Given the description of an element on the screen output the (x, y) to click on. 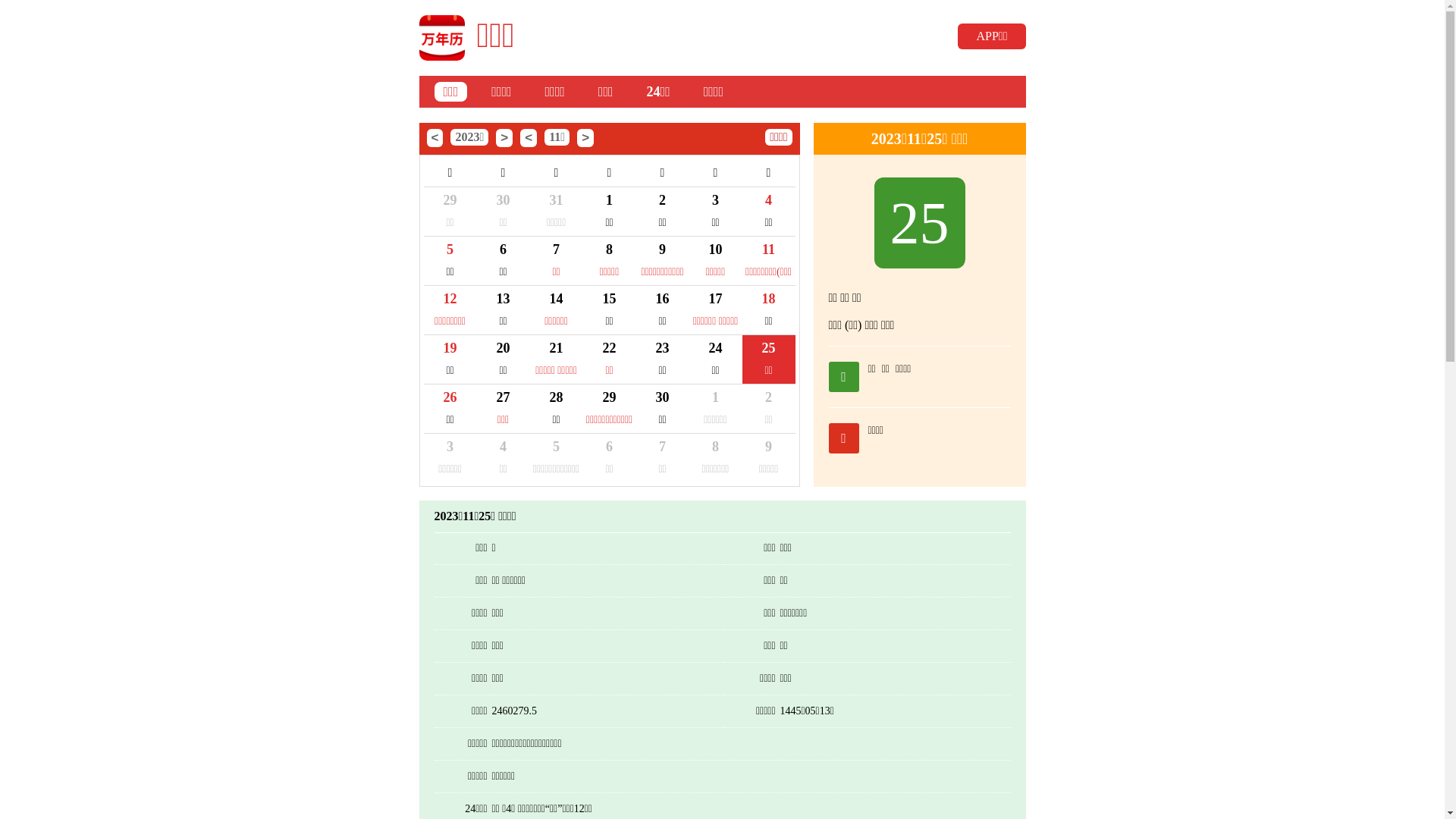
< Element type: text (434, 137)
< Element type: text (528, 137)
> Element type: text (503, 137)
> Element type: text (585, 137)
